Given the description of an element on the screen output the (x, y) to click on. 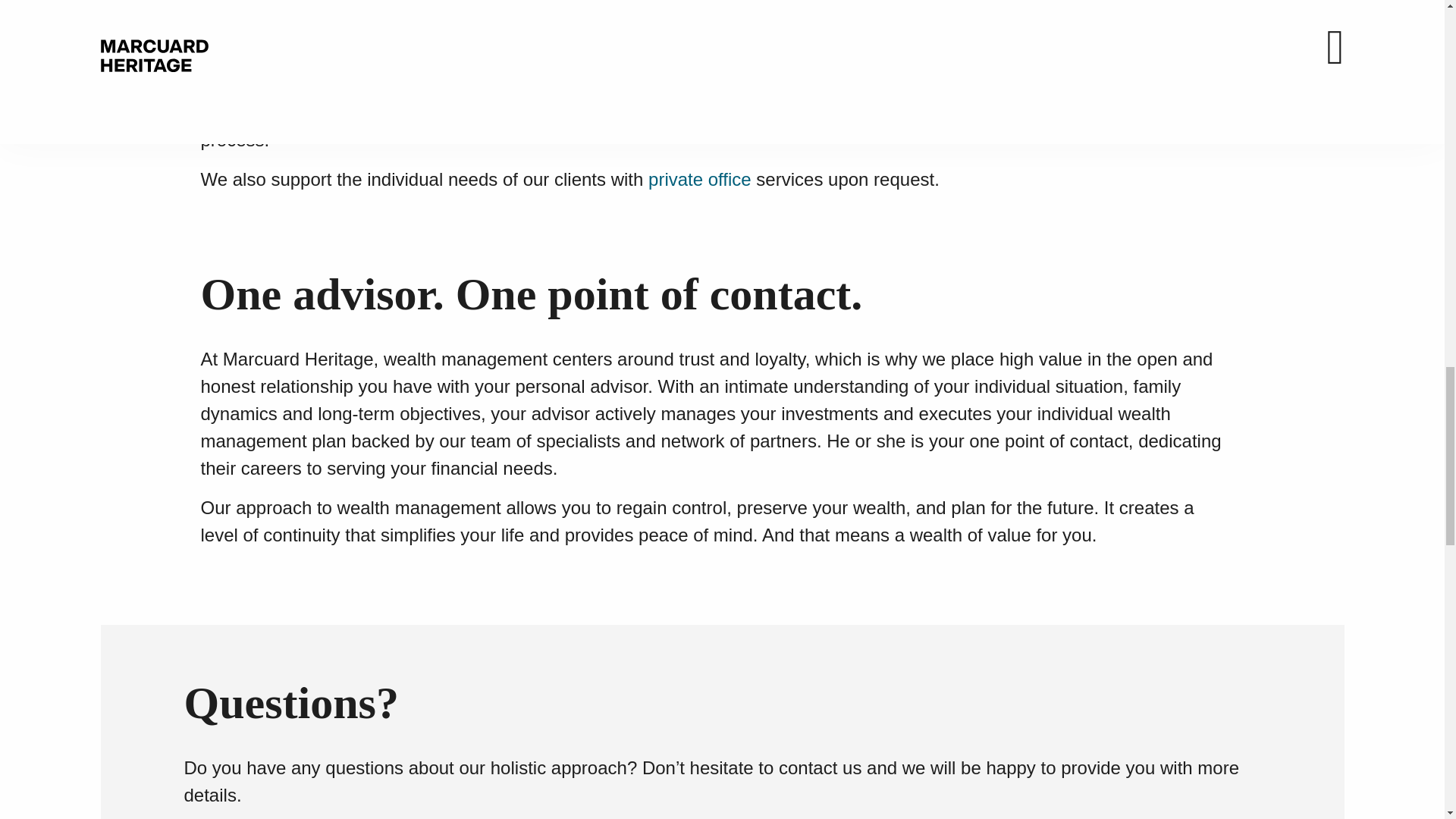
private office (699, 178)
investment solutions (496, 85)
